Given the description of an element on the screen output the (x, y) to click on. 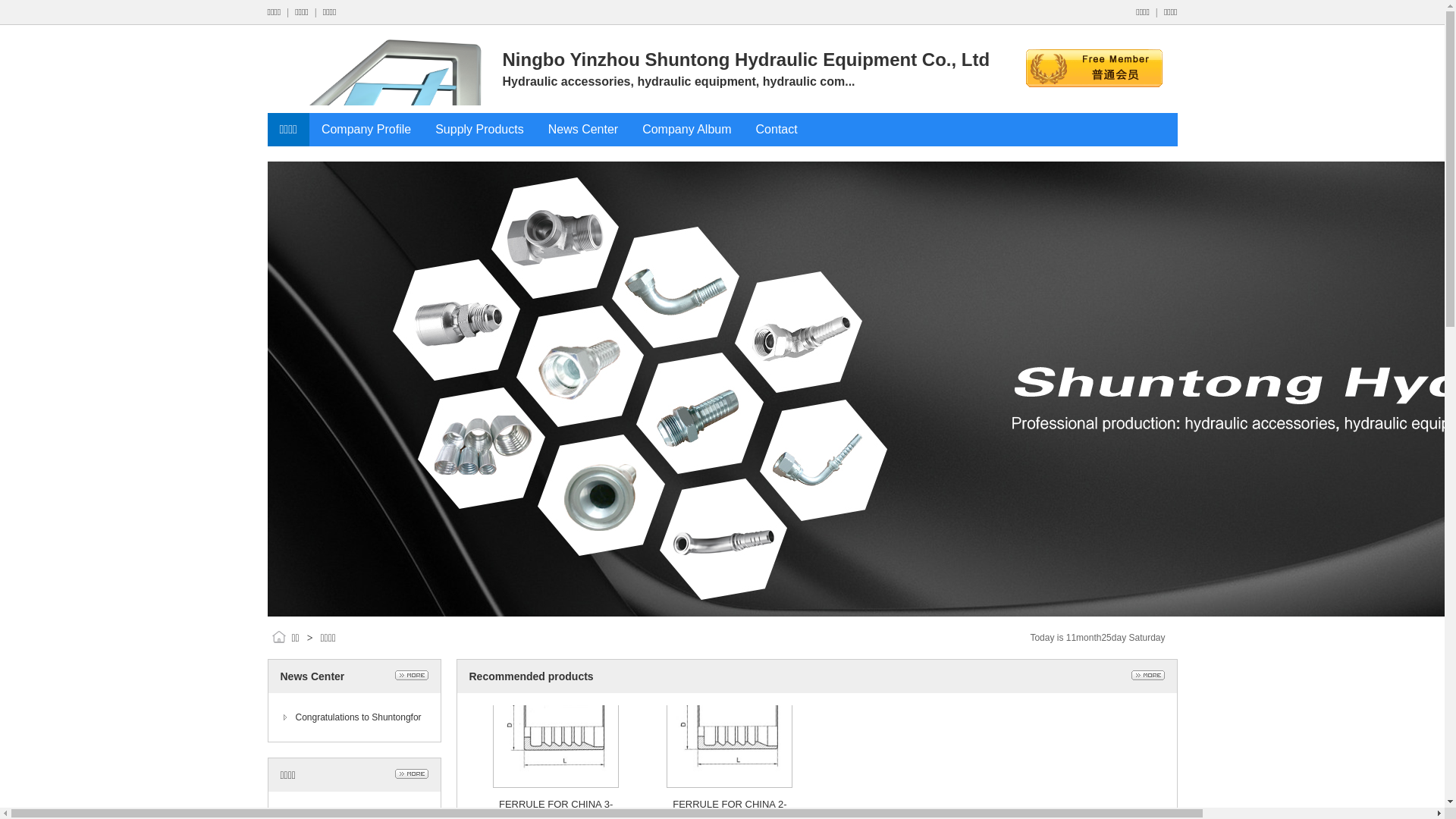
FERRULE FOR CHINA 4-SPIRAL HOSE Element type: text (1077, 726)
Contact Element type: text (776, 128)
Ningbo Yinzhou Shuntong Hydraulic Equipment Co., Ltd Element type: text (745, 59)
Company Profile Element type: text (366, 128)
News Center Element type: text (583, 128)
Congratulations to Shuntongfor officially opening Element type: text (358, 729)
Supply Products Element type: text (479, 128)
Company Album Element type: text (686, 128)
